Given the description of an element on the screen output the (x, y) to click on. 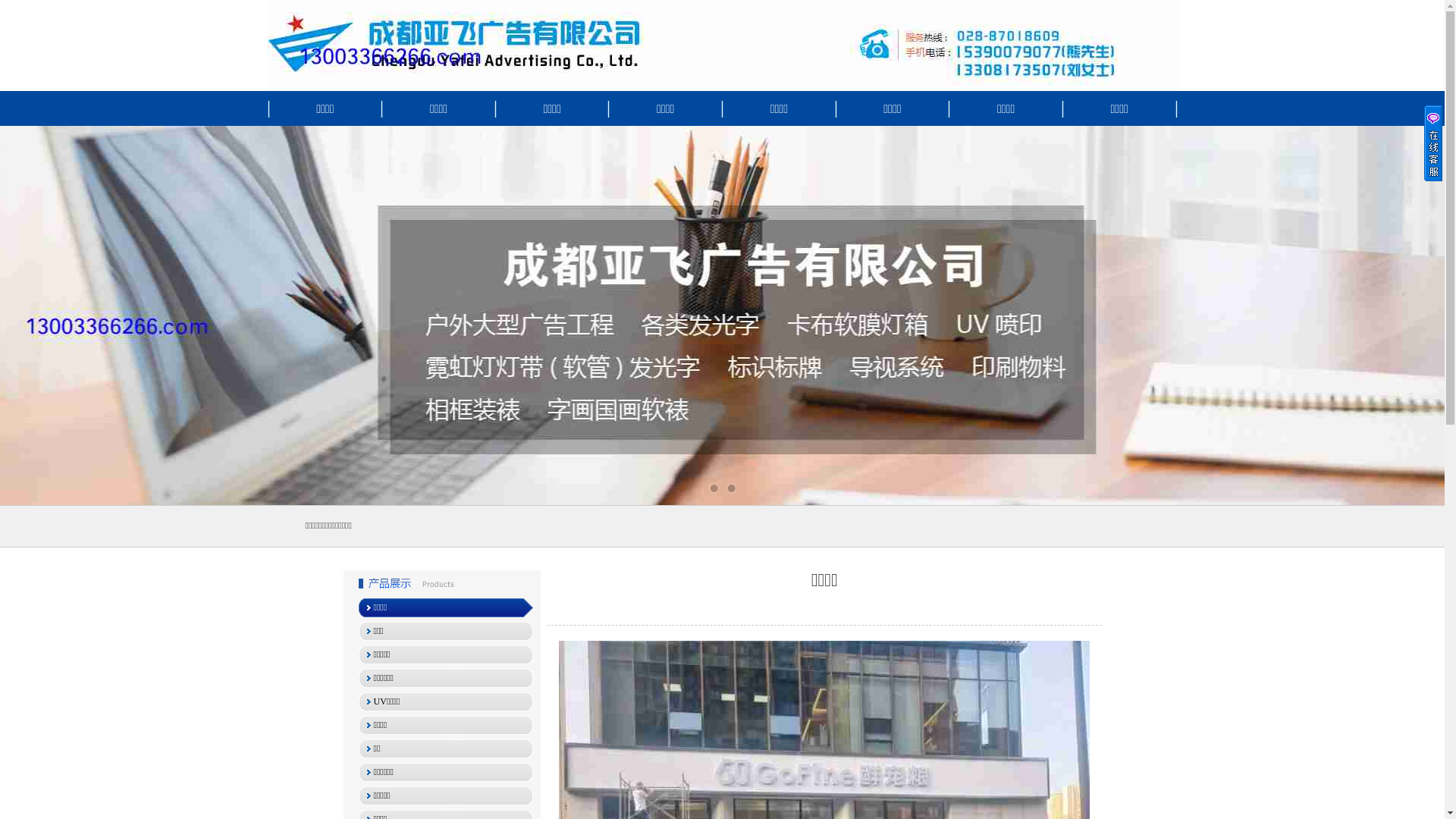
1 Element type: text (713, 488)
2 Element type: text (730, 488)
